Given the description of an element on the screen output the (x, y) to click on. 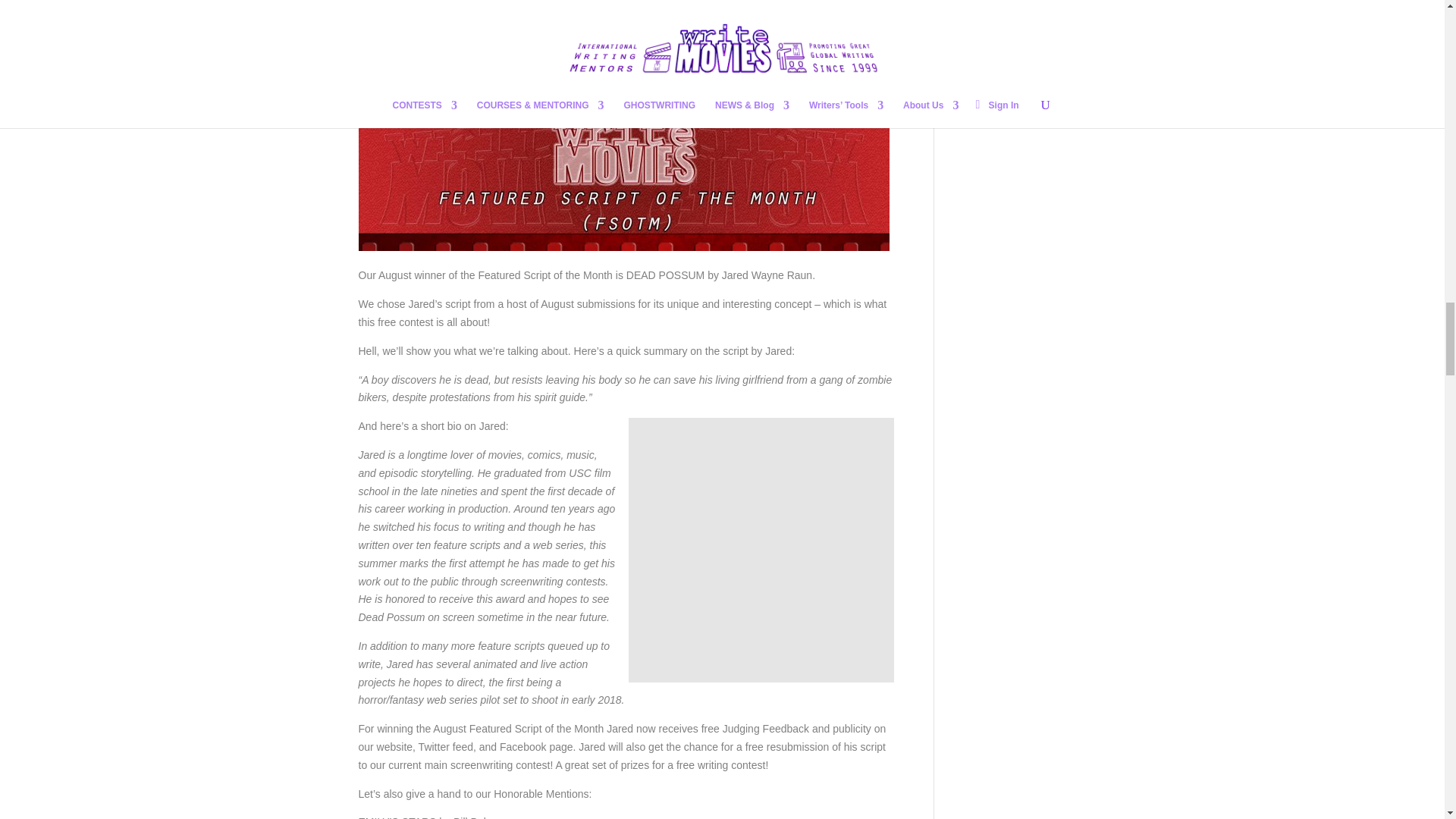
Posts by John (383, 33)
